Given the description of an element on the screen output the (x, y) to click on. 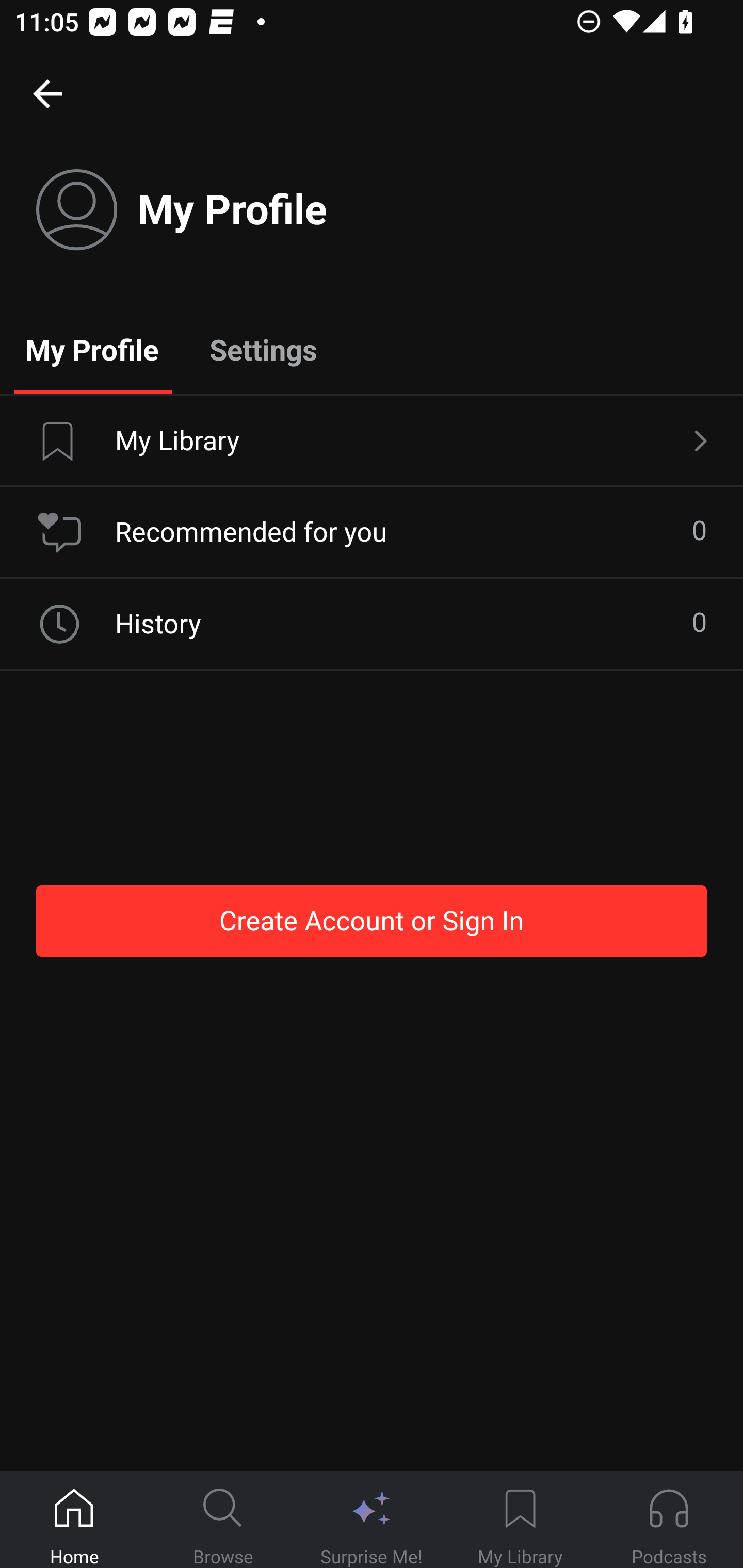
Home, back (47, 92)
My Profile (92, 348)
Settings (263, 348)
My Library (371, 441)
Recommended for you 0 (371, 532)
History 0 (371, 623)
Create Account or Sign In (371, 920)
Home (74, 1520)
Browse (222, 1520)
Surprise Me! (371, 1520)
My Library (519, 1520)
Podcasts (668, 1520)
